Given the description of an element on the screen output the (x, y) to click on. 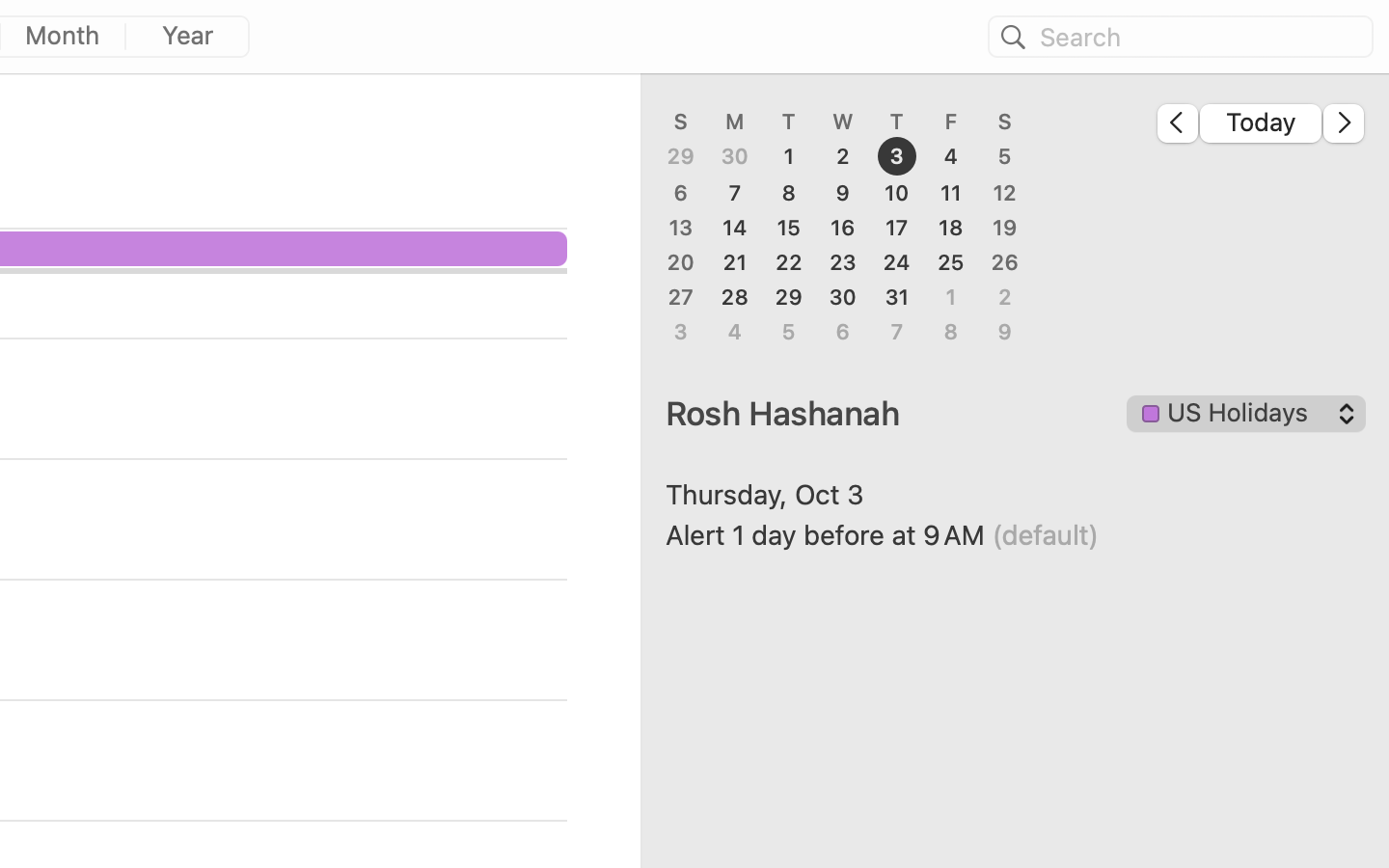
14 Element type: AXStaticText (735, 227)
6 Element type: AXStaticText (680, 192)
23 Element type: AXStaticText (843, 261)
US Holidays Element type: AXPopUpButton (1246, 416)
7 Element type: AXStaticText (735, 192)
